Given the description of an element on the screen output the (x, y) to click on. 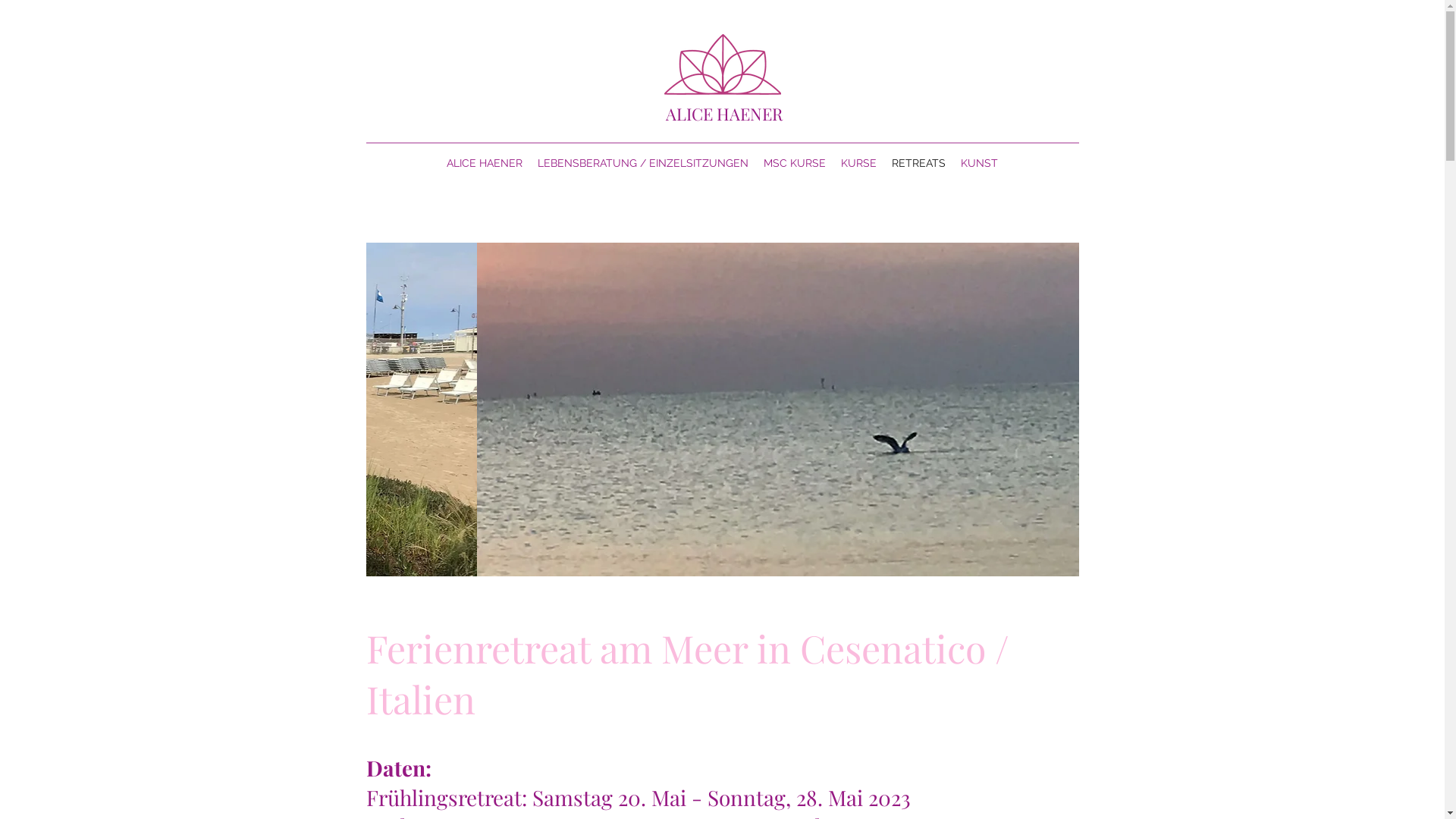
ALICE HAENER Element type: text (484, 162)
MSC KURSE Element type: text (794, 162)
LEBENSBERATUNG / EINZELSITZUNGEN Element type: text (643, 162)
KUNST Element type: text (979, 162)
KURSE Element type: text (858, 162)
RETREATS Element type: text (918, 162)
